Given the description of an element on the screen output the (x, y) to click on. 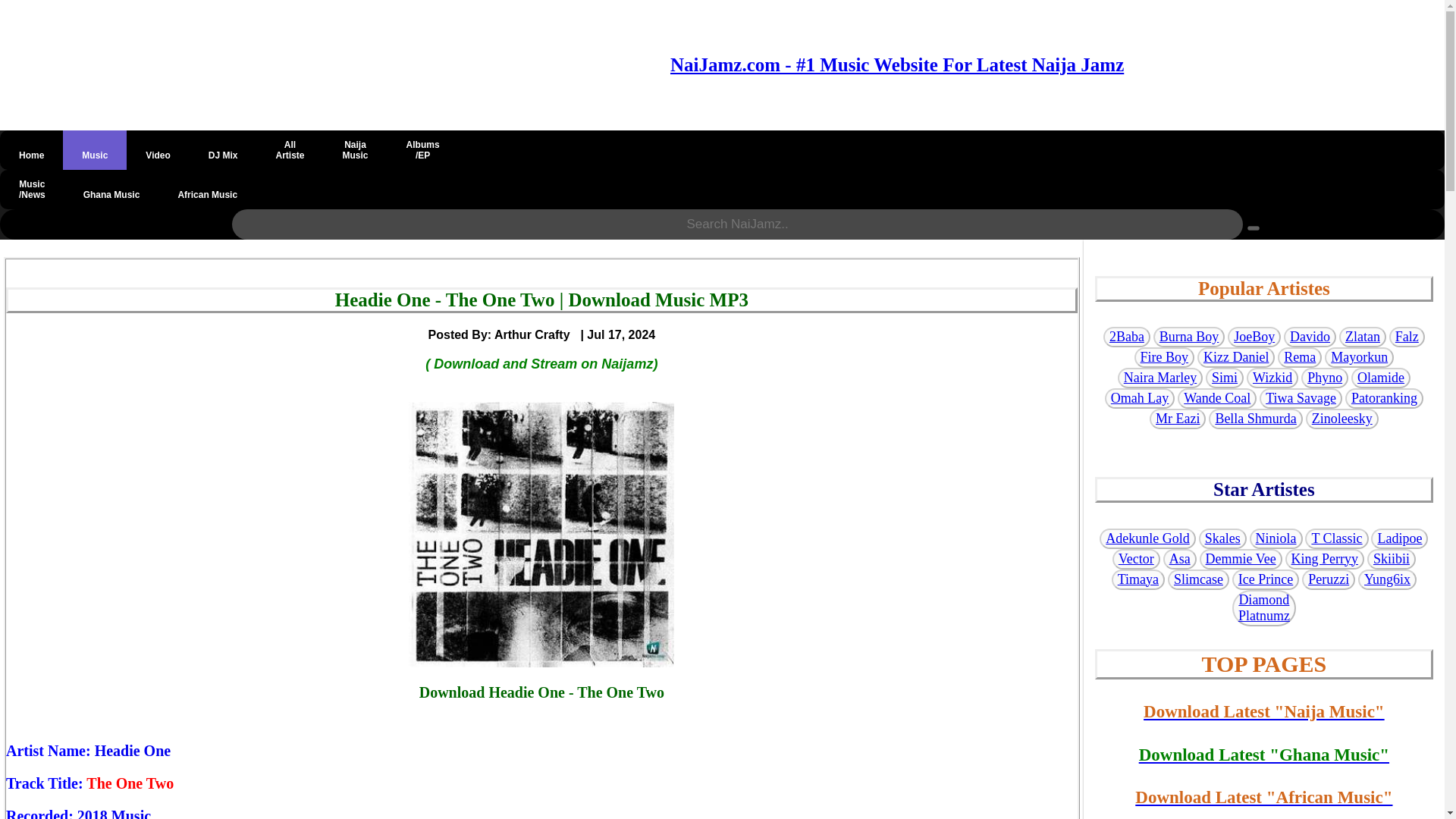
Video (157, 149)
2018 Music (114, 813)
Posted By: Arthur Crafty   (504, 334)
Search source code (1253, 228)
Music (94, 149)
African Music (355, 149)
DJ Mix (207, 189)
Headie One (223, 149)
Ghana Music (290, 149)
Home (132, 750)
